Given the description of an element on the screen output the (x, y) to click on. 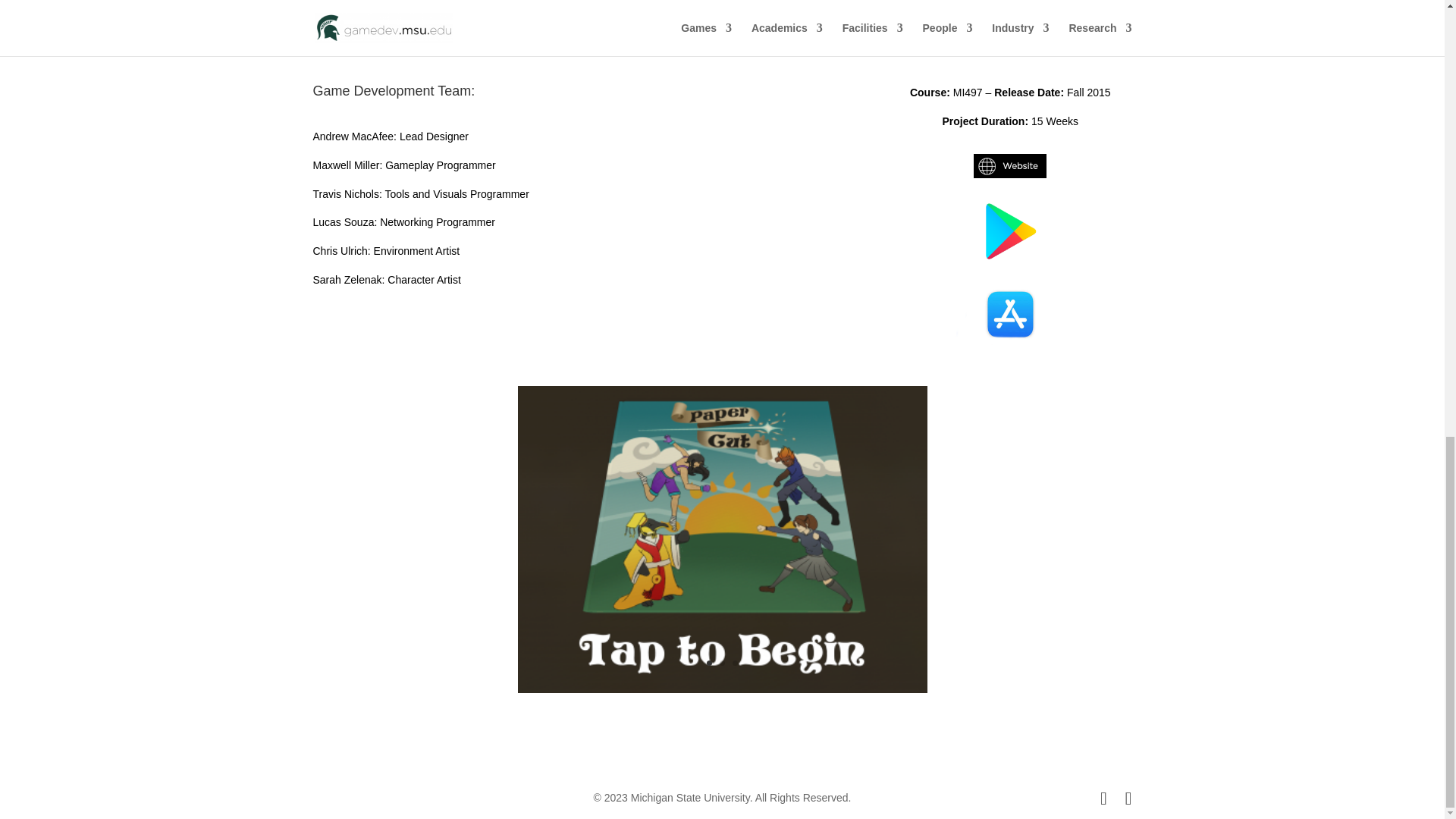
Papercut21 (721, 693)
